Given the description of an element on the screen output the (x, y) to click on. 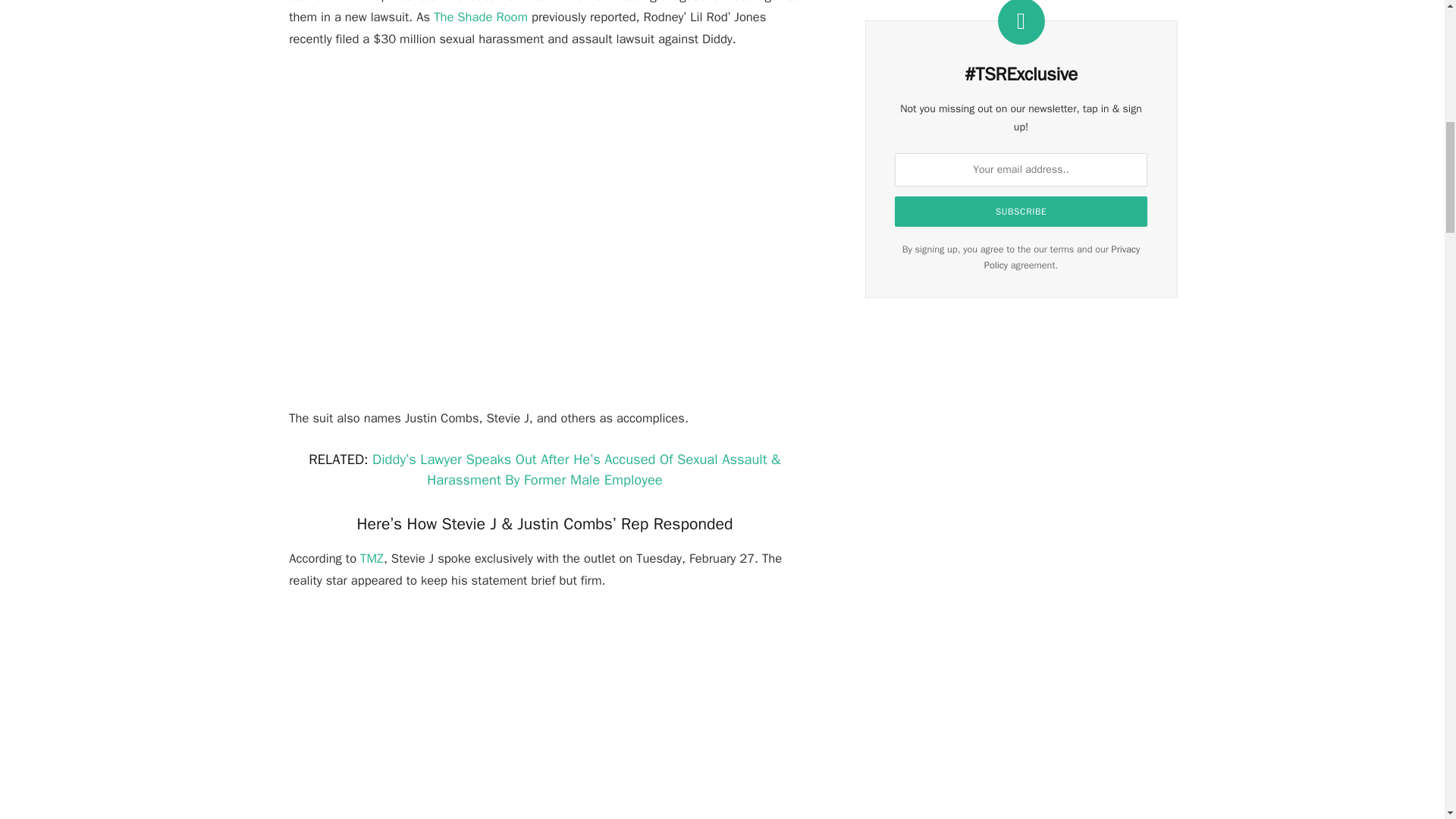
Subscribe (1021, 211)
